Given the description of an element on the screen output the (x, y) to click on. 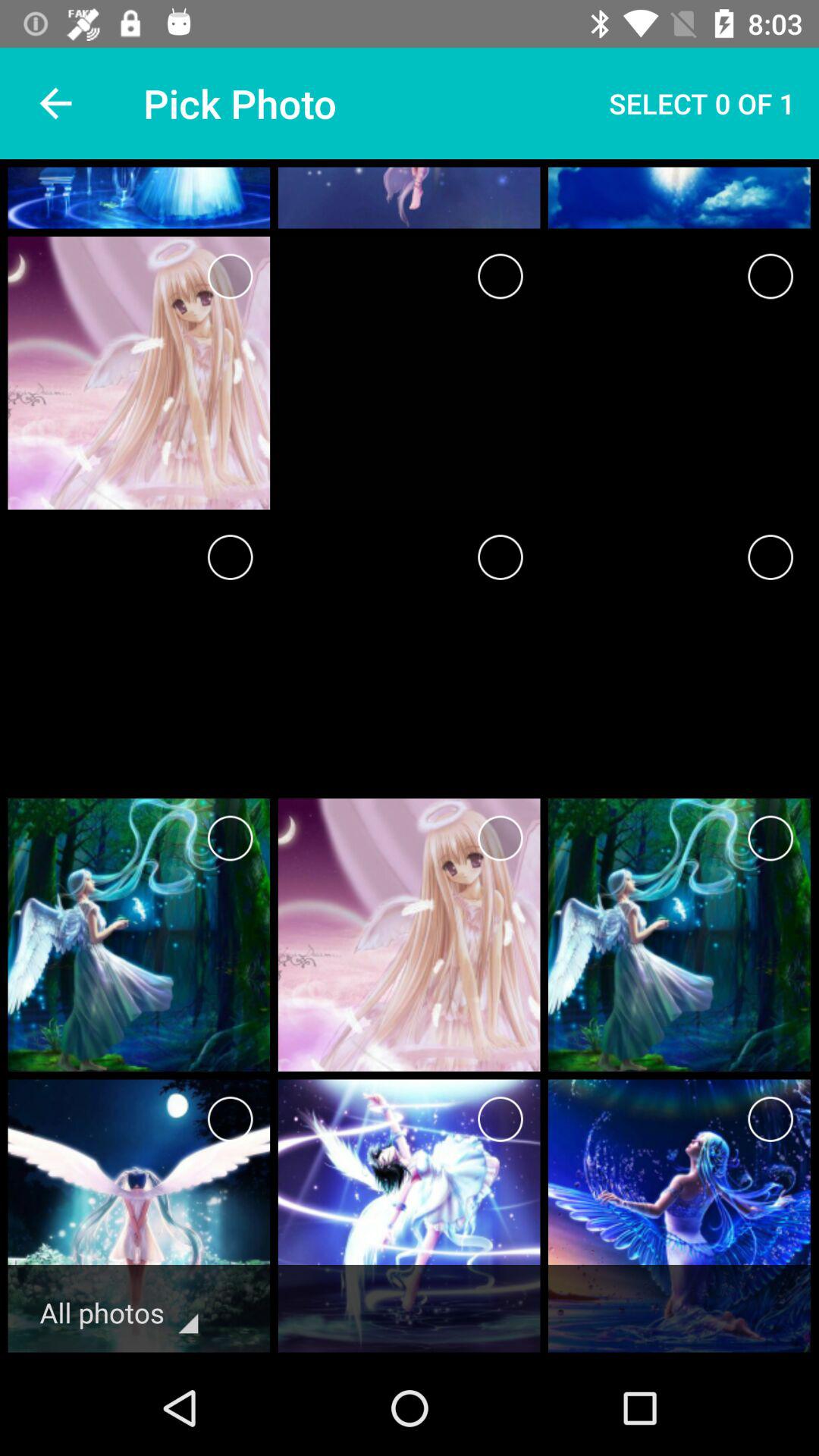
select this icon (500, 838)
